Given the description of an element on the screen output the (x, y) to click on. 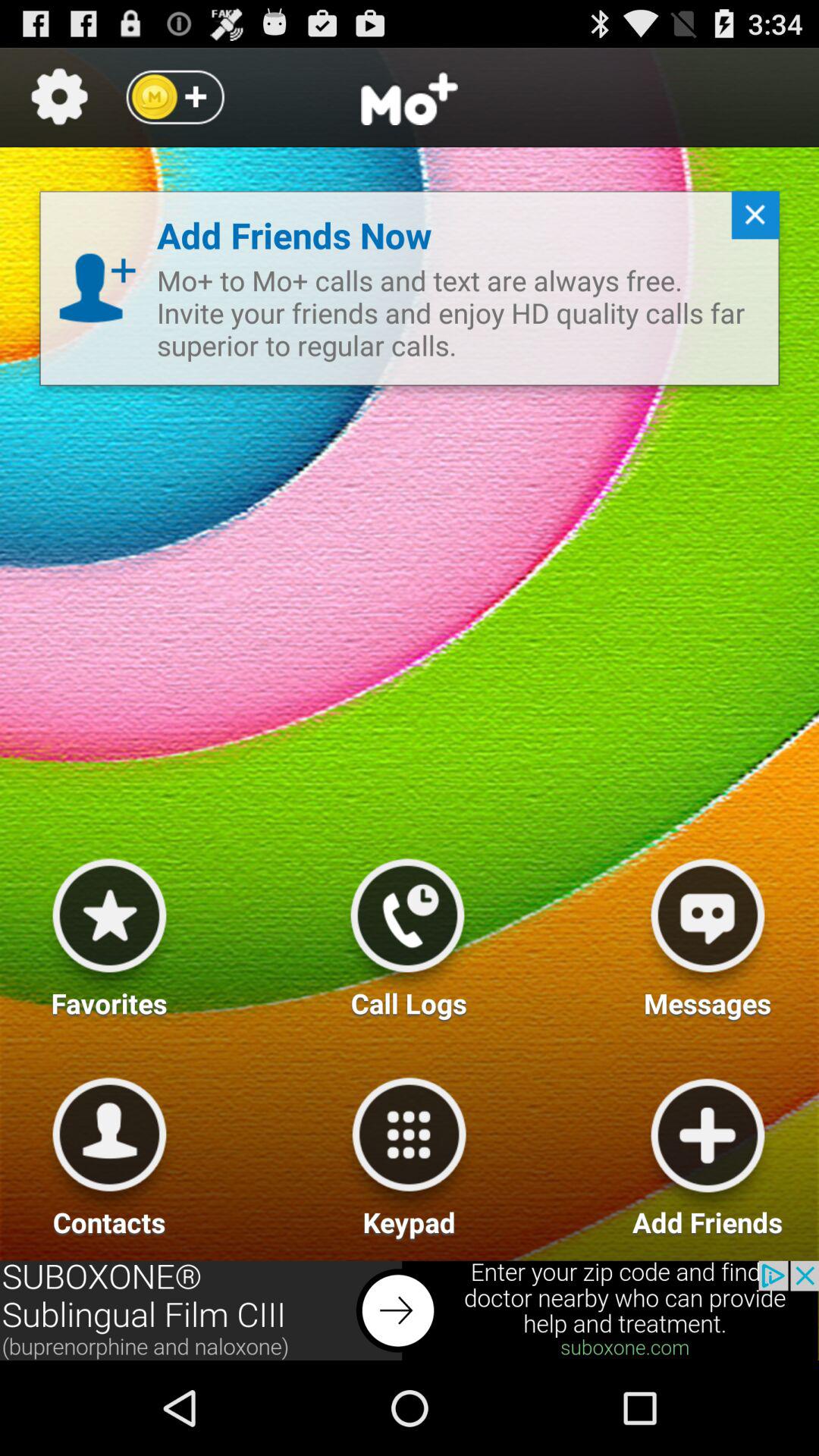
open the call logs page (407, 932)
